Given the description of an element on the screen output the (x, y) to click on. 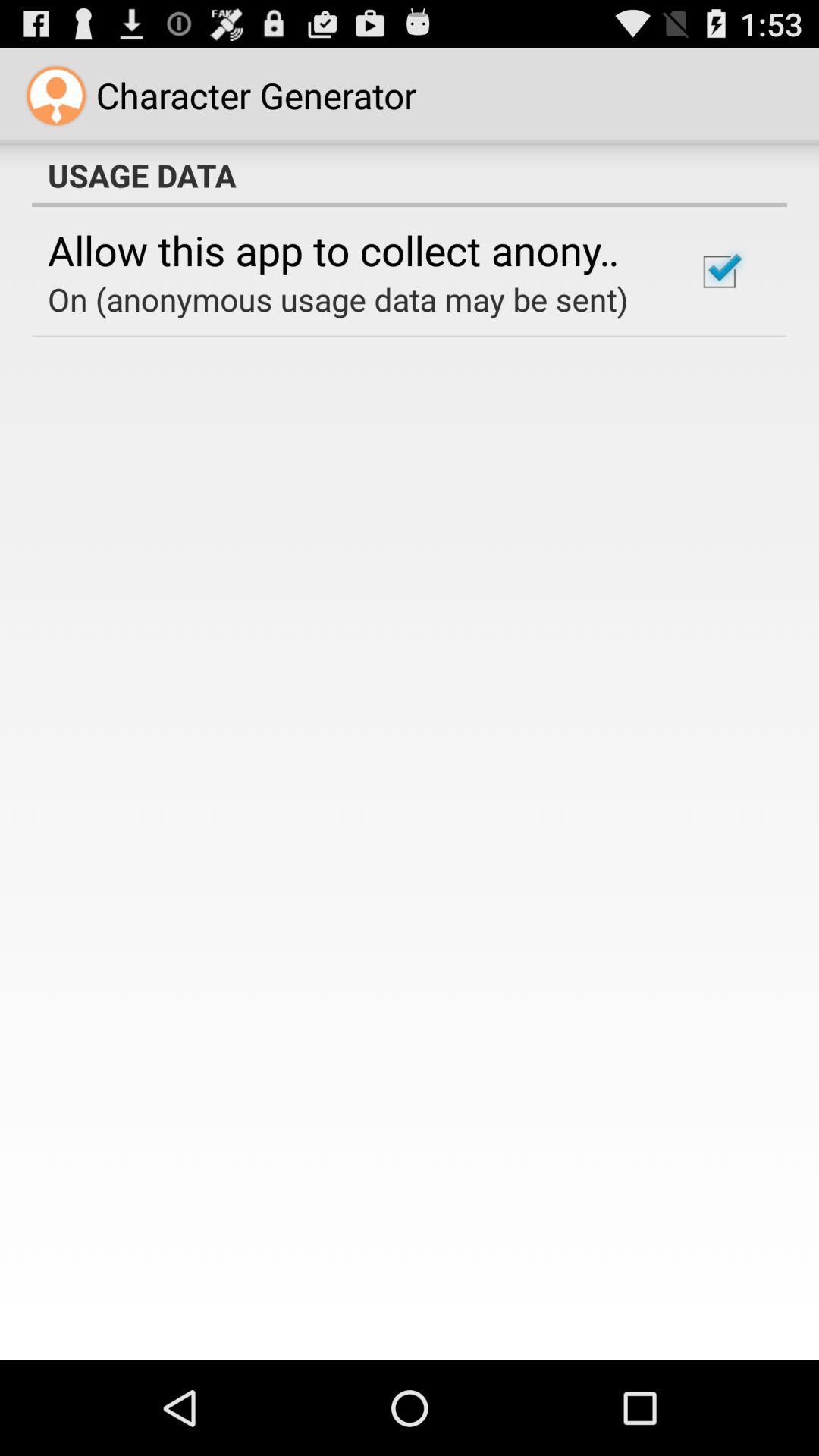
tap item next to the allow this app icon (719, 271)
